Given the description of an element on the screen output the (x, y) to click on. 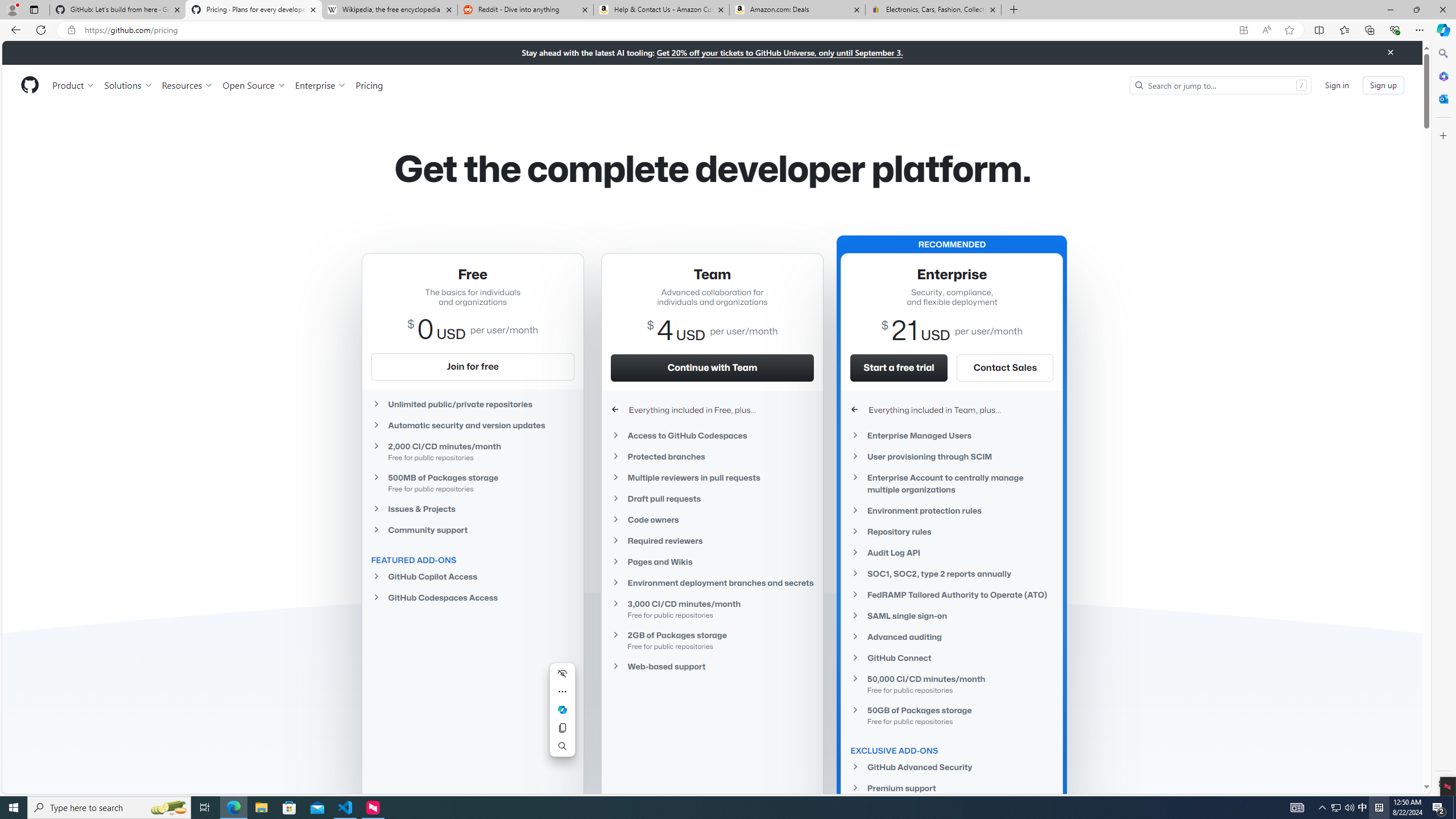
Premium support (952, 788)
Join for free (473, 366)
GitHub Connect (952, 658)
Wikipedia, the free encyclopedia (390, 9)
Premium support (952, 788)
Open Source (254, 84)
3,000 CI/CD minutes/month Free for public repositories (711, 608)
Pages and Wikis (711, 561)
GitHub Advanced Security (952, 766)
